Given the description of an element on the screen output the (x, y) to click on. 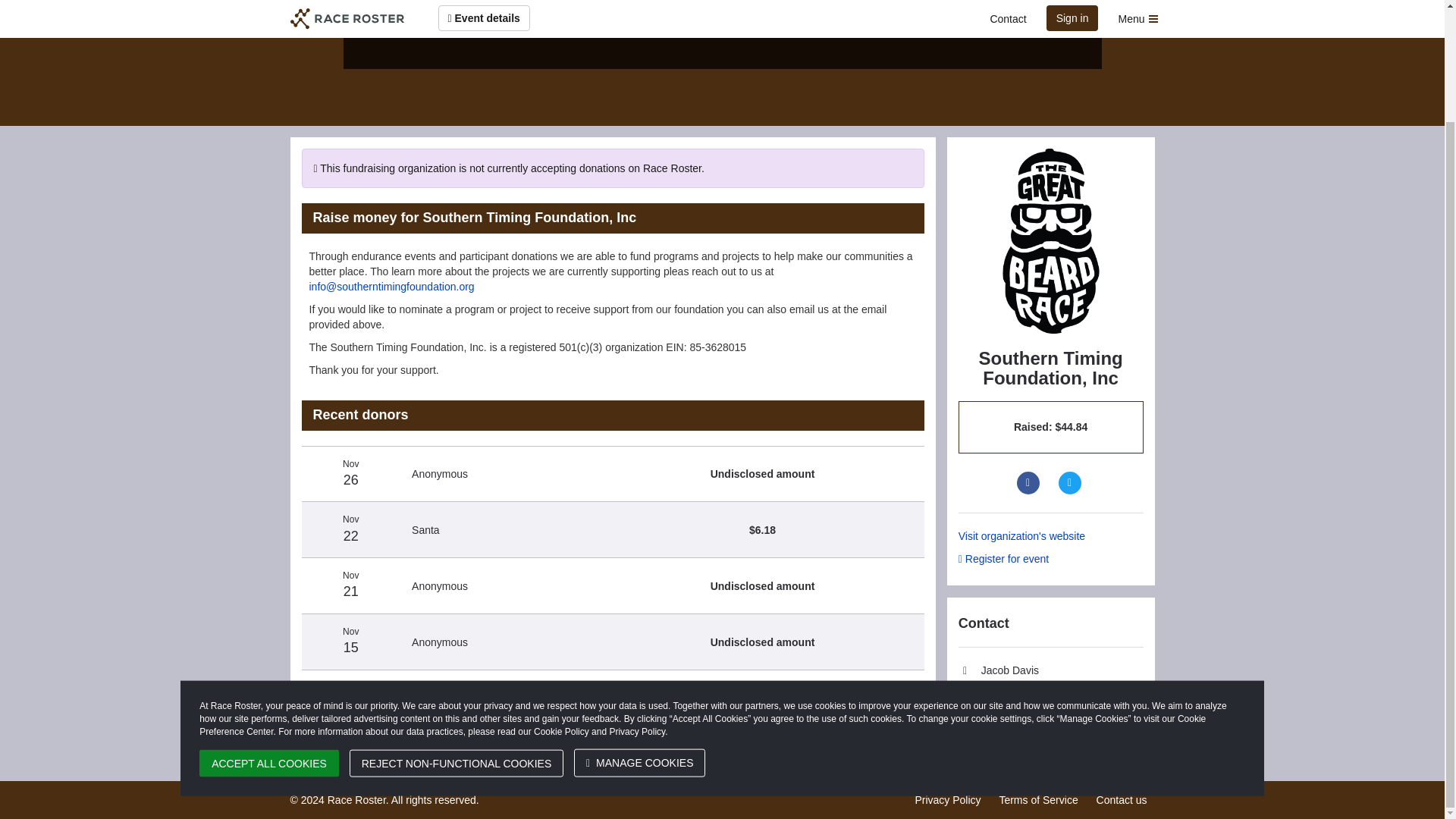
Privacy Policy (946, 799)
Visit organization's website (1050, 535)
ACCEPT ALL COOKIES (269, 630)
Terms of Service (1037, 799)
MANAGE COOKIES (638, 631)
Register for event (1050, 558)
REJECT NON-FUNCTIONAL COOKIES (456, 630)
Contact us (1121, 799)
